Given the description of an element on the screen output the (x, y) to click on. 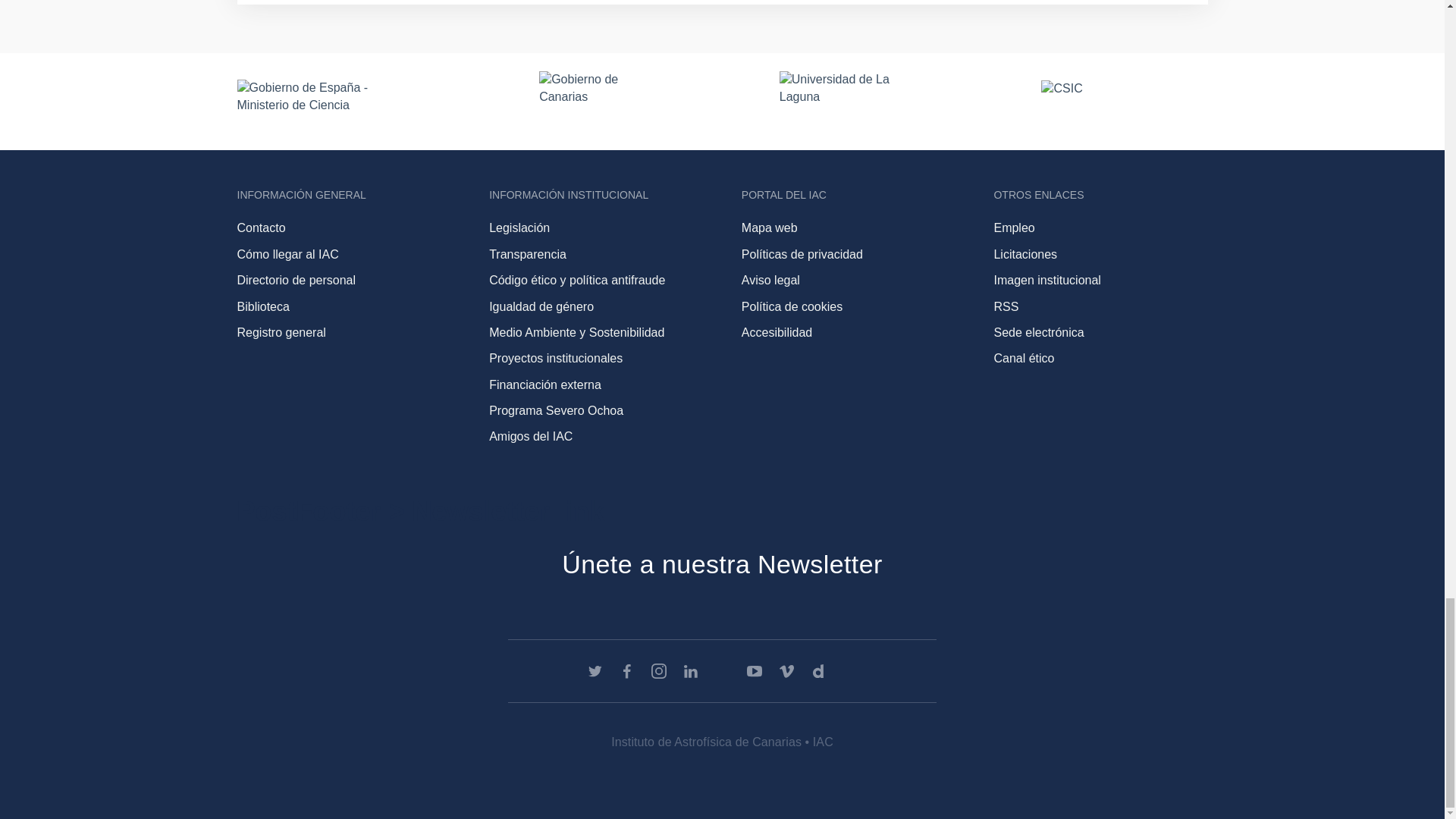
CSIC (1124, 101)
Gobierno de Canarias (591, 101)
Universidad de La Laguna (842, 101)
